Given the description of an element on the screen output the (x, y) to click on. 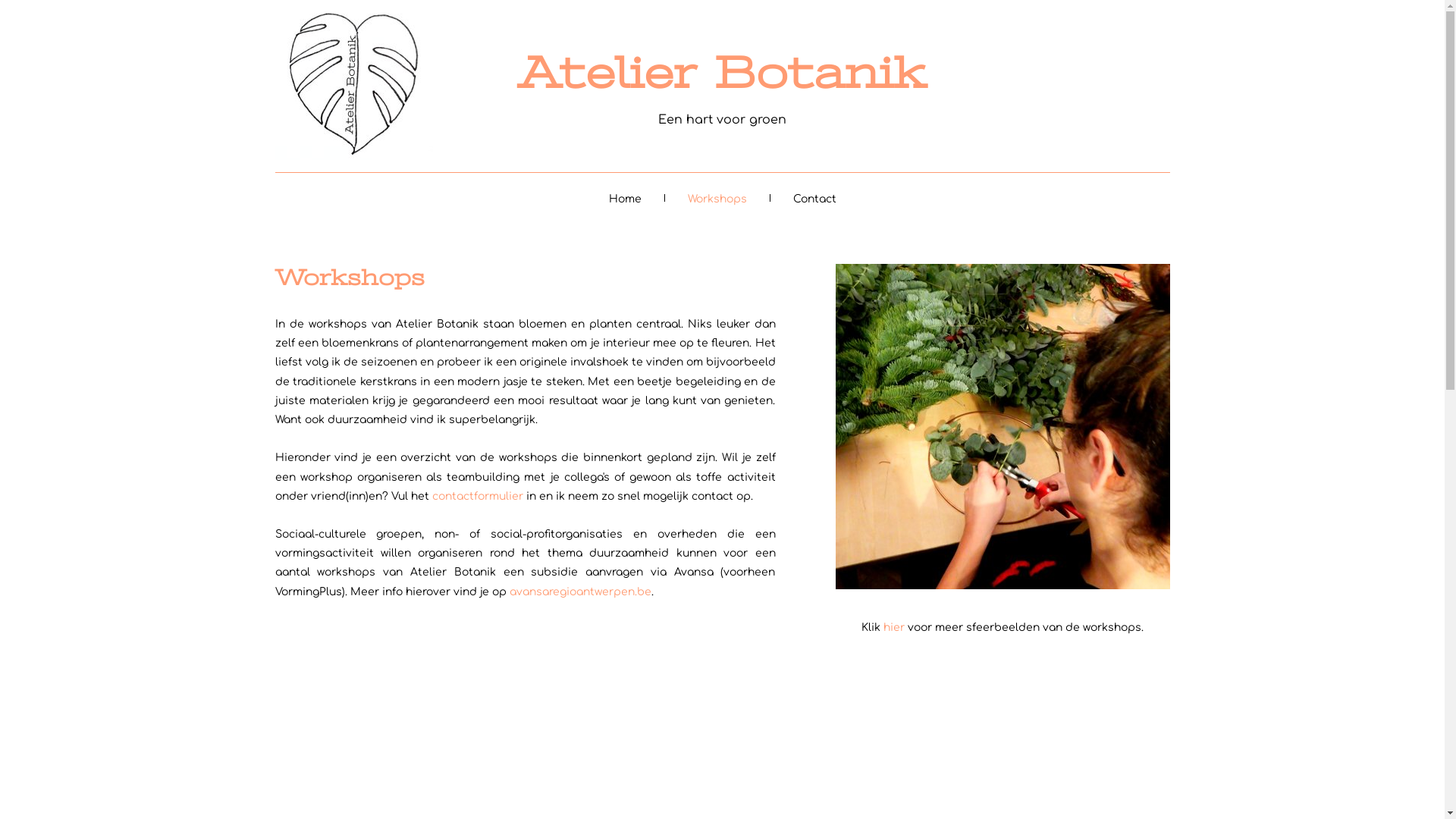
hier Element type: text (893, 627)
avansaregioantwerpen.be Element type: text (580, 591)
Home Element type: text (624, 197)
Contact Element type: text (814, 197)
Workshops Element type: text (716, 197)
Workshop Element type: hover (1002, 426)
contactformulier Element type: text (477, 496)
